Given the description of an element on the screen output the (x, y) to click on. 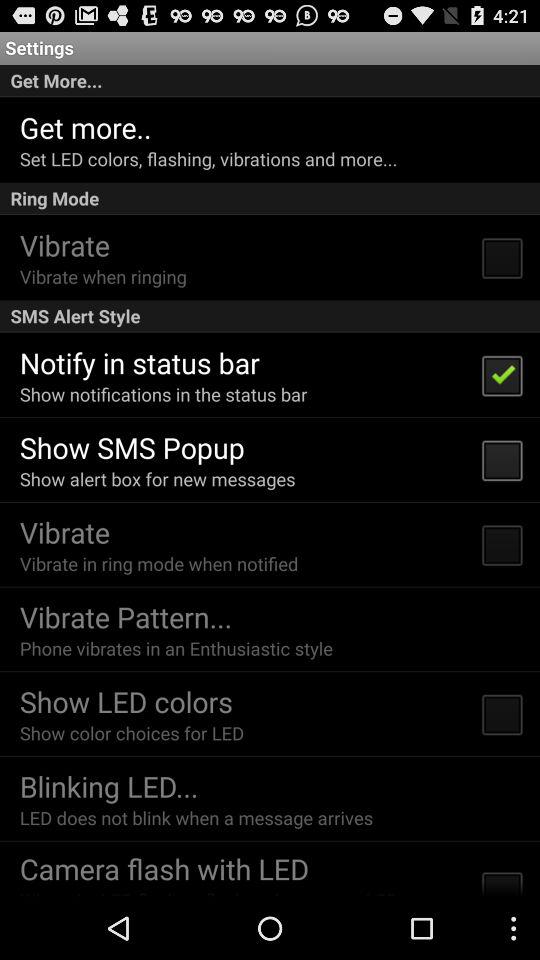
launch show color choices icon (131, 732)
